Given the description of an element on the screen output the (x, y) to click on. 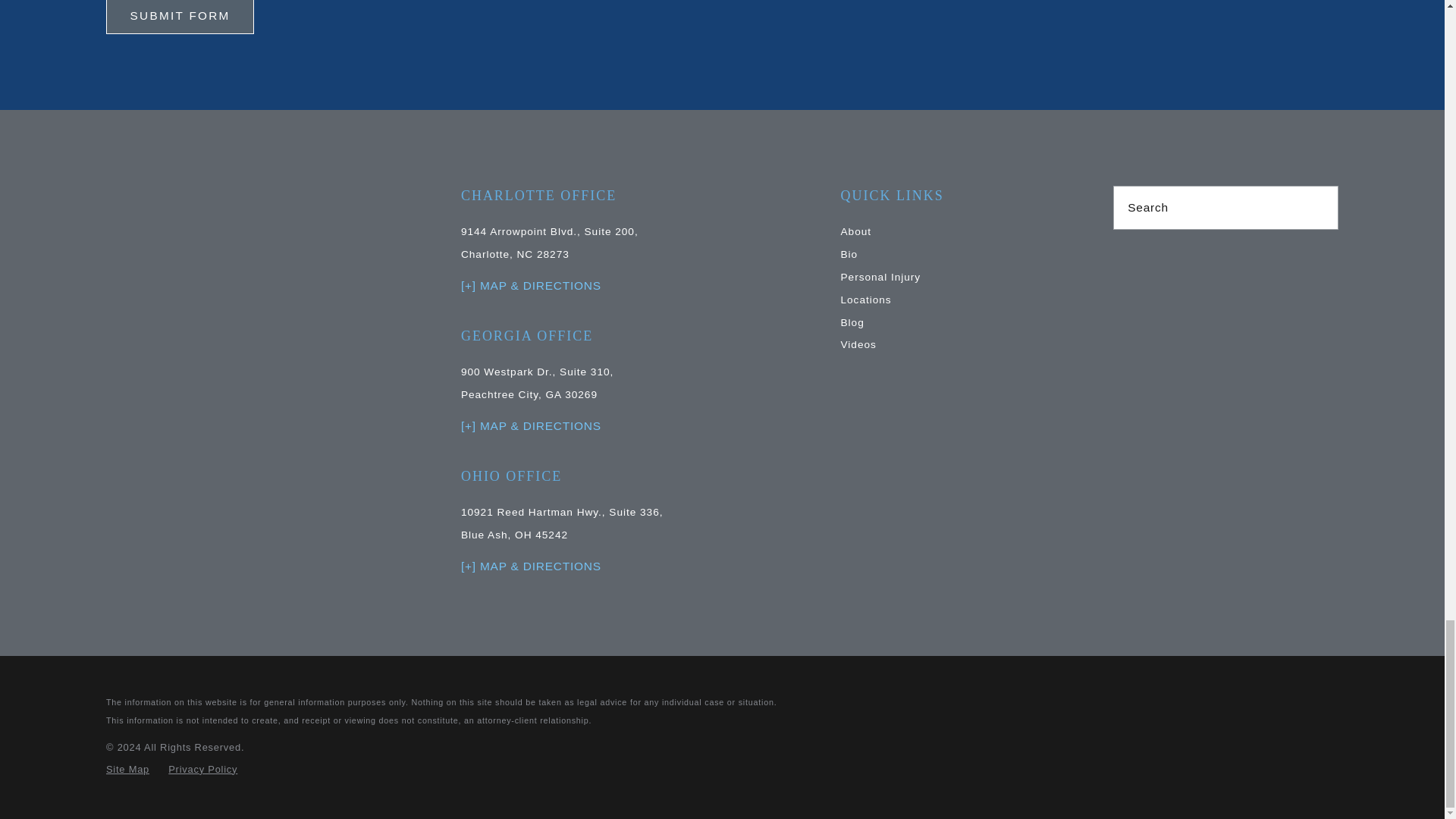
Facebook (1120, 257)
LinkedIn (1202, 257)
Search Icon (1318, 208)
Twitter (1161, 257)
Search Our Site (1318, 207)
